Given the description of an element on the screen output the (x, y) to click on. 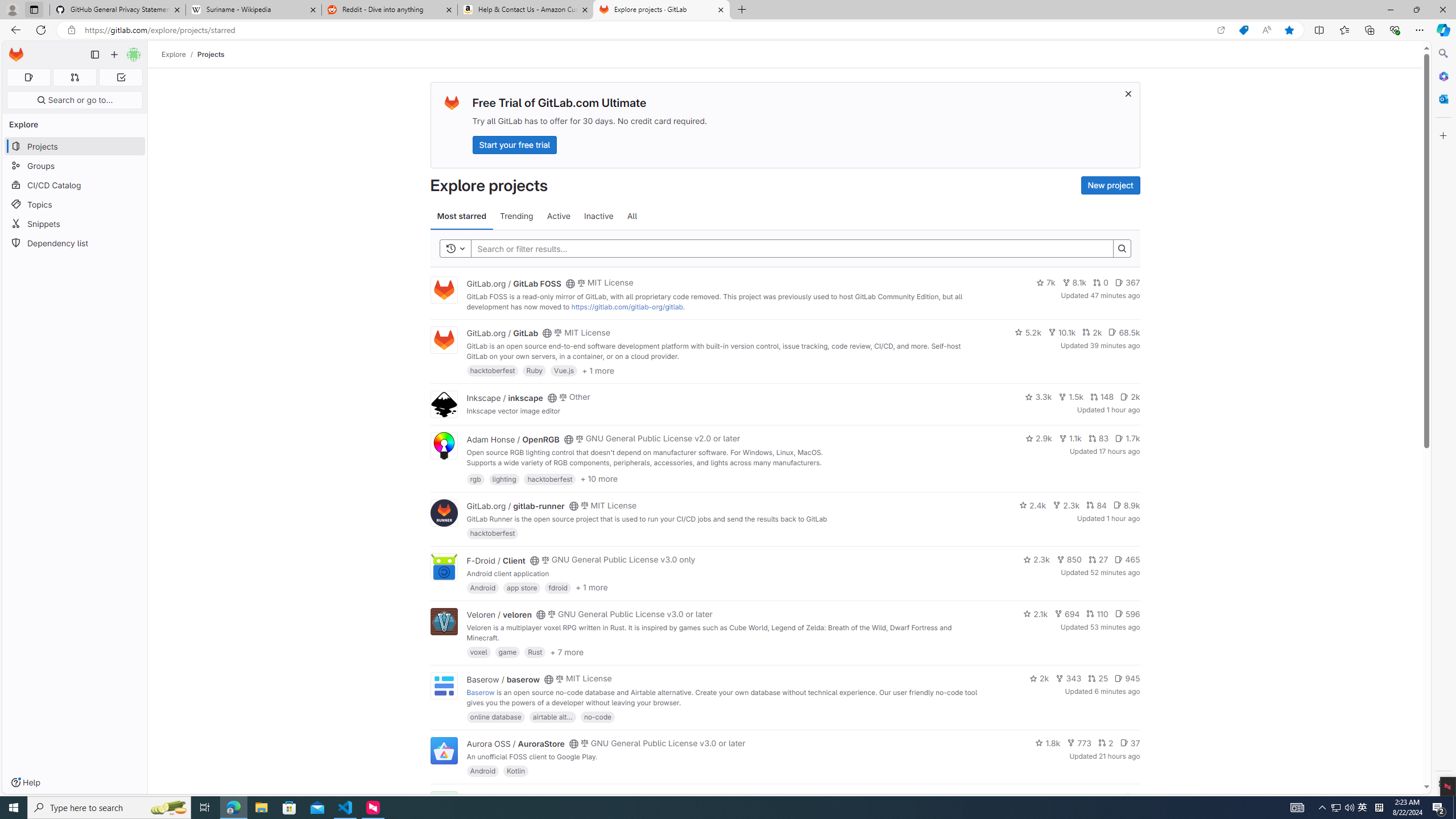
All (632, 216)
no-code (597, 715)
airtable alt... (552, 715)
Class: project (443, 750)
Open in app (1220, 29)
+ 7 more (566, 651)
Kotlin (515, 770)
0 (1100, 282)
+ 1 more (591, 587)
84 (1096, 504)
